Given the description of an element on the screen output the (x, y) to click on. 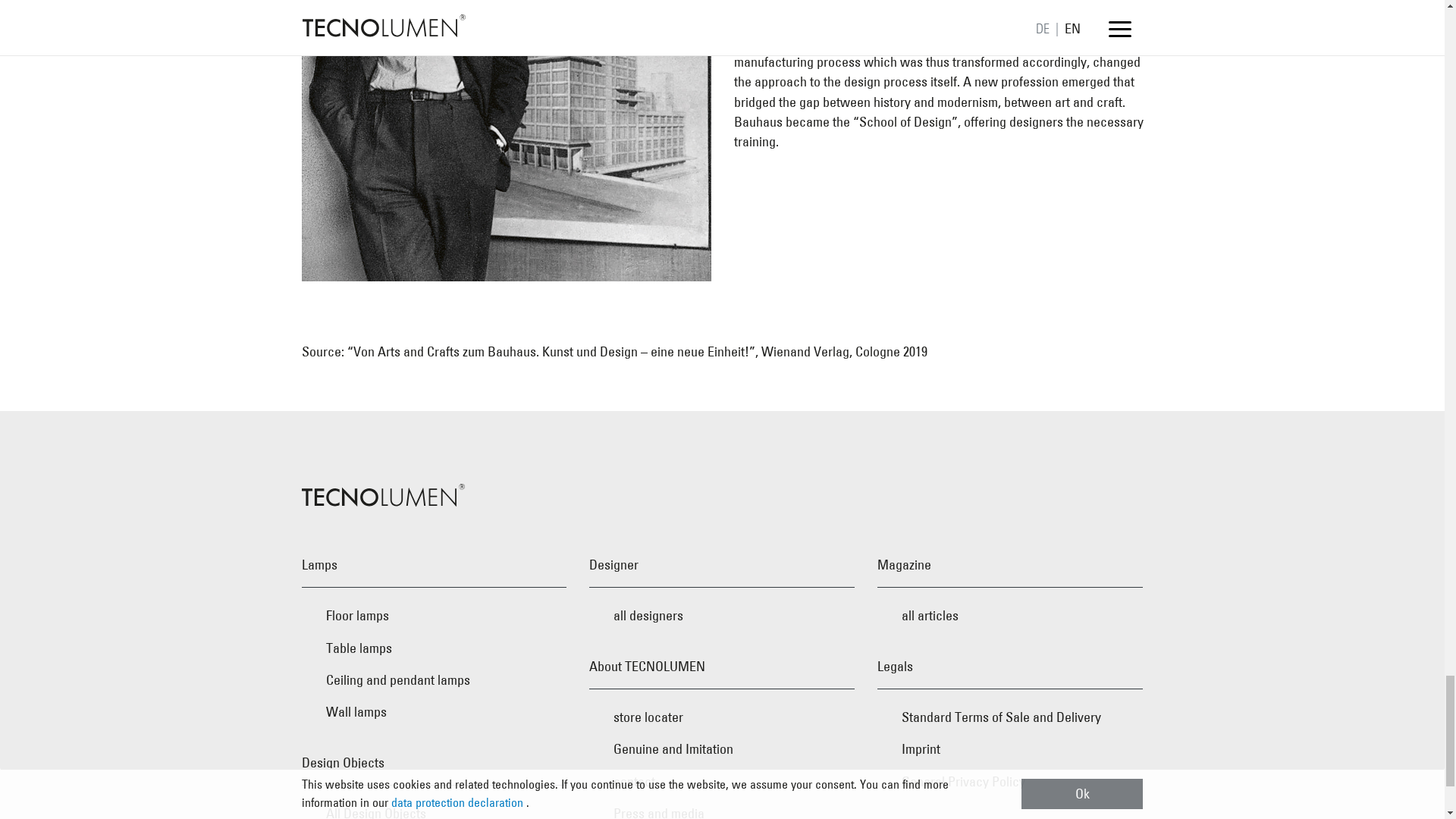
contact (721, 781)
all designers (721, 615)
Magazine (1009, 565)
All Design Objects (434, 808)
Legals (1009, 666)
Standard Terms of Sale and Delivery (1009, 717)
store locater (721, 717)
Design Objects (434, 763)
all articles (1009, 615)
Press and media (721, 808)
Ceiling and pendant lamps (434, 680)
About TECNOLUMEN (721, 666)
Imprint (1009, 748)
Table lamps (434, 648)
Floor lamps (434, 615)
